Given the description of an element on the screen output the (x, y) to click on. 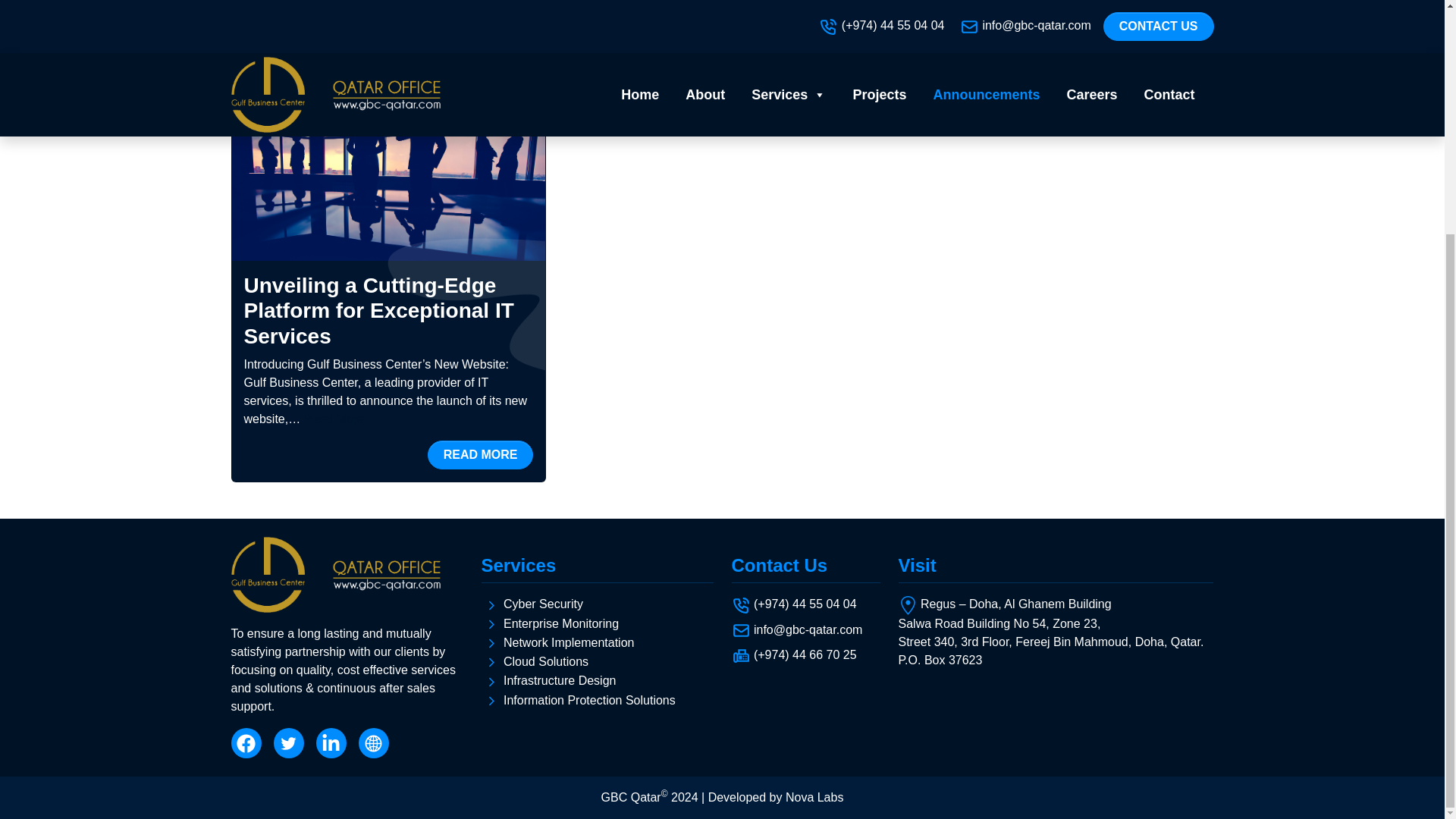
Cloud Solutions (545, 661)
Network Implementation (568, 642)
Read More (334, 418)
Cyber Security (543, 603)
Information Protection Solutions (589, 699)
Nova Labs (815, 796)
Infrastructure Design (559, 680)
READ MORE (481, 453)
Enterprise Monitoring (560, 623)
